Given the description of an element on the screen output the (x, y) to click on. 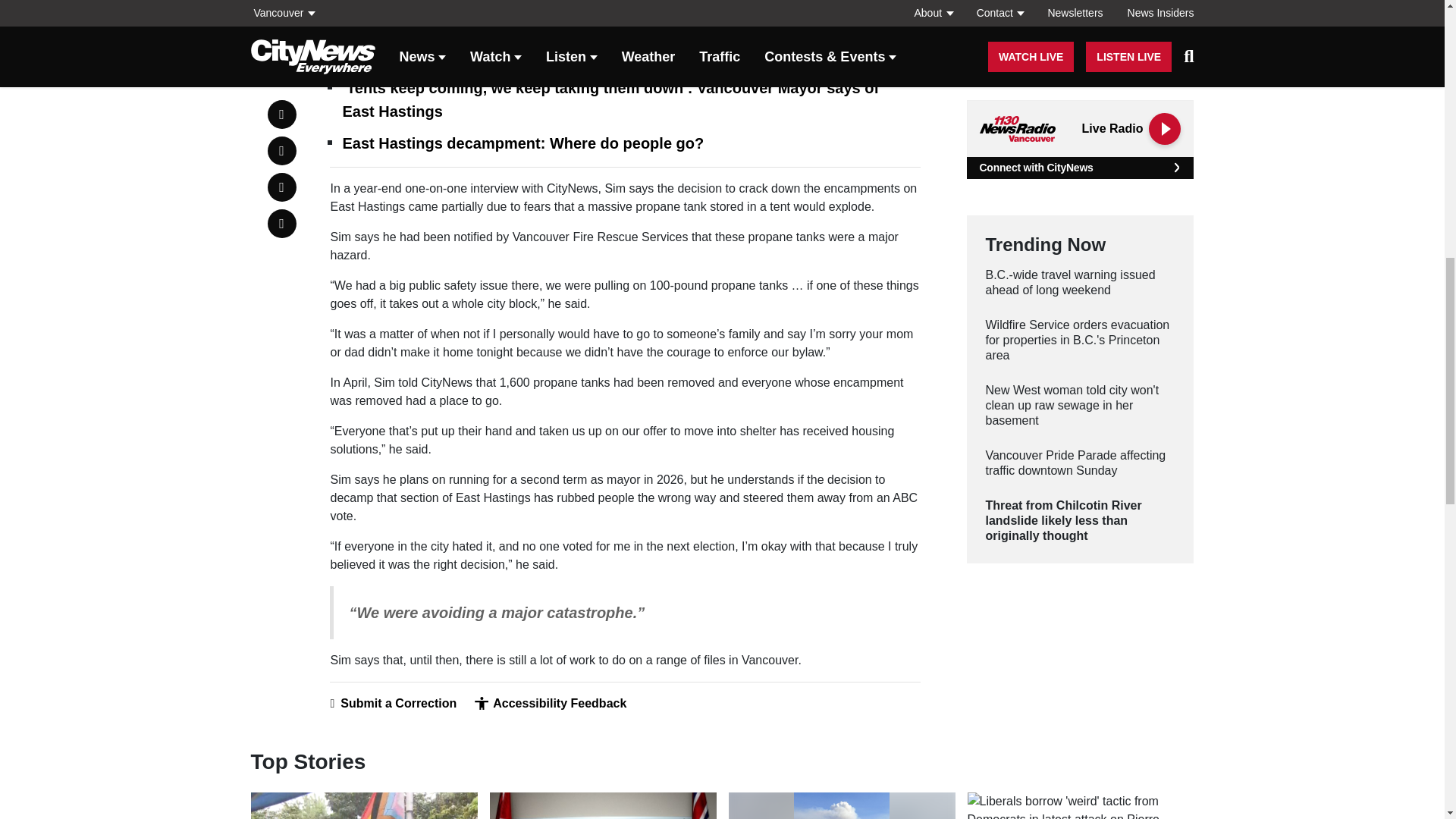
Accessibility Feedback (550, 703)
Submit a Correction (393, 703)
